Given the description of an element on the screen output the (x, y) to click on. 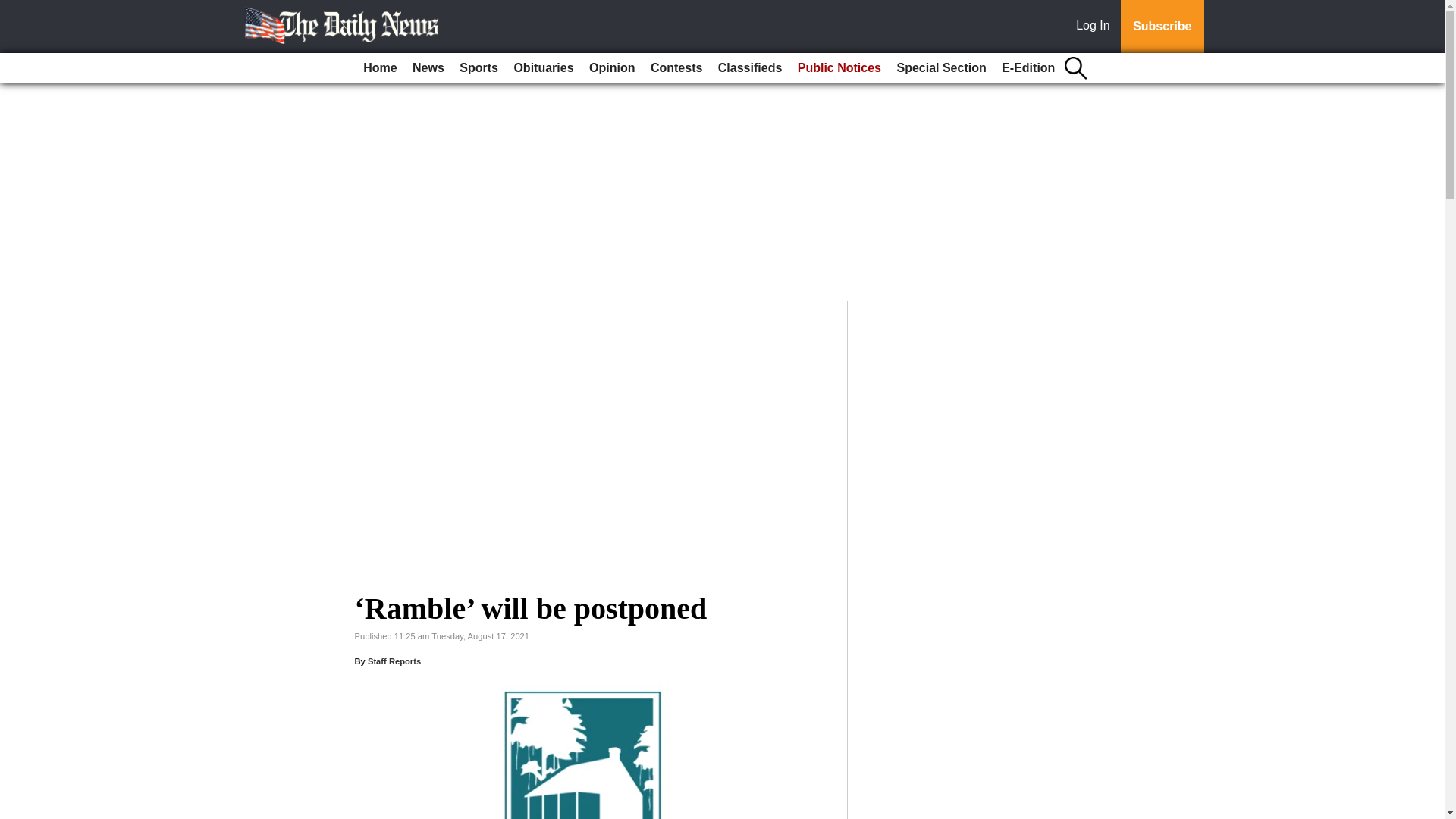
Obituaries (542, 68)
Opinion (611, 68)
Home (379, 68)
Subscribe (1162, 26)
Contests (676, 68)
Special Section (940, 68)
Sports (477, 68)
Log In (1095, 26)
Public Notices (839, 68)
Classifieds (749, 68)
E-Edition (1028, 68)
Go (13, 9)
Staff Reports (394, 660)
News (427, 68)
